Given the description of an element on the screen output the (x, y) to click on. 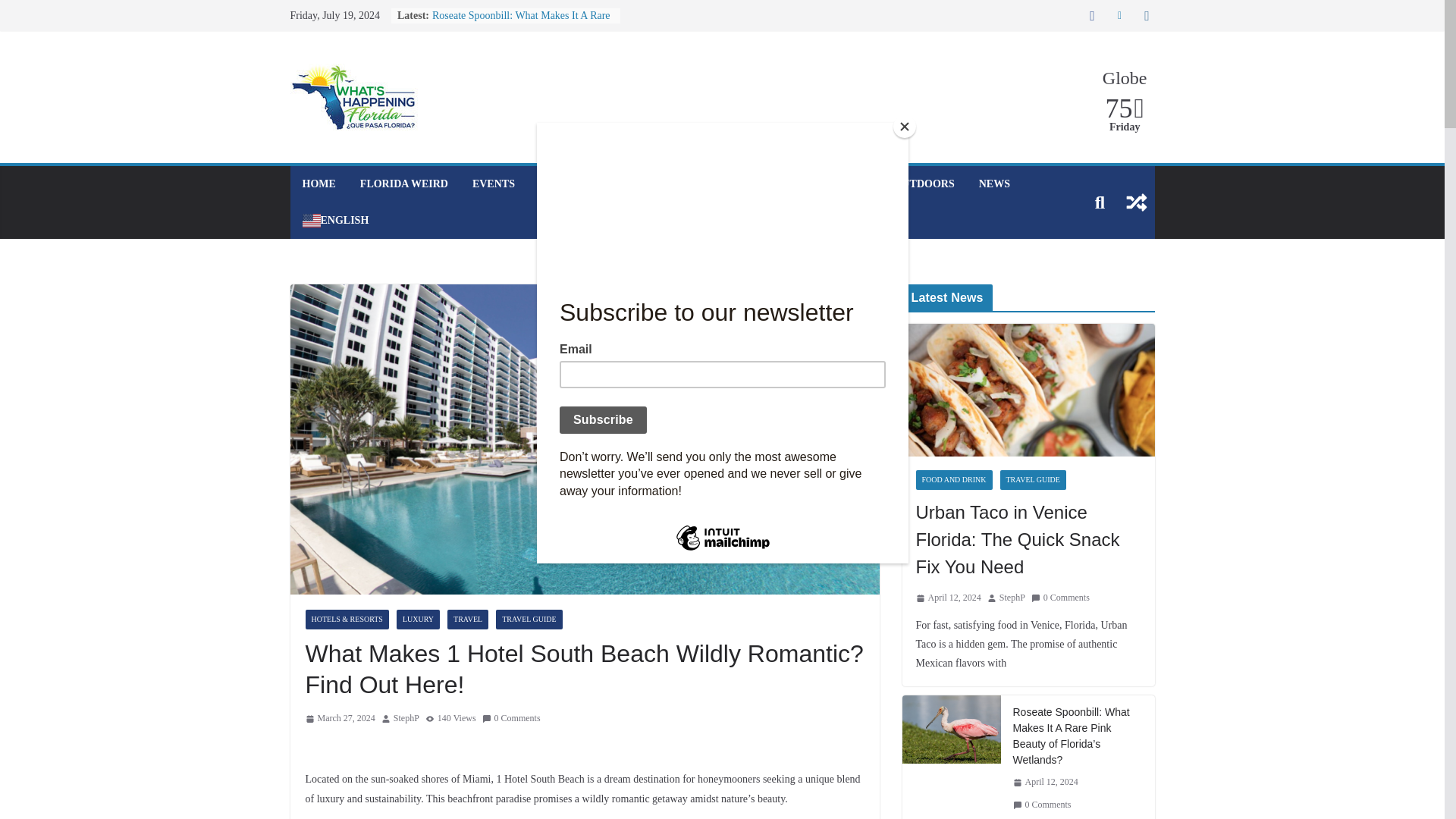
0 Comments (510, 718)
LUXURY (417, 619)
StephP (406, 718)
English (334, 219)
LUXURY (779, 183)
FLORIDA WEIRD (403, 183)
NEWS (994, 183)
11:50 am (339, 718)
TRAVEL (466, 619)
TRAVEL (848, 183)
ENGLISH (334, 219)
March 27, 2024 (339, 718)
TRAVEL GUIDE (529, 619)
